Given the description of an element on the screen output the (x, y) to click on. 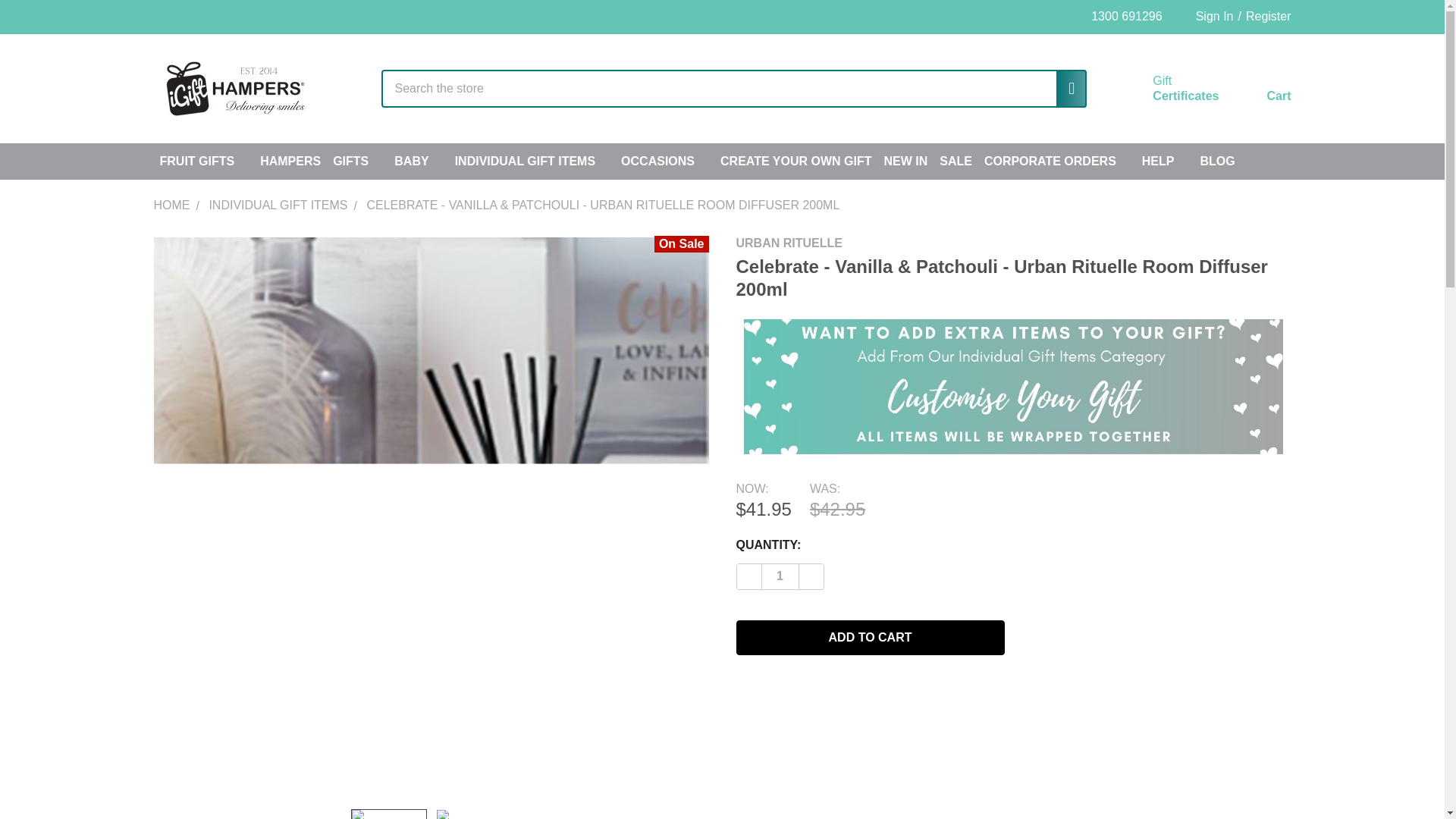
Gift Certificates (1167, 88)
GIFTS (357, 161)
Cart (1260, 92)
igiftFRUITHAMPERS (233, 88)
Cart (1260, 92)
Search (1065, 88)
Sign In (1207, 16)
Add to Cart (869, 637)
HAMPERS (1167, 88)
